Given the description of an element on the screen output the (x, y) to click on. 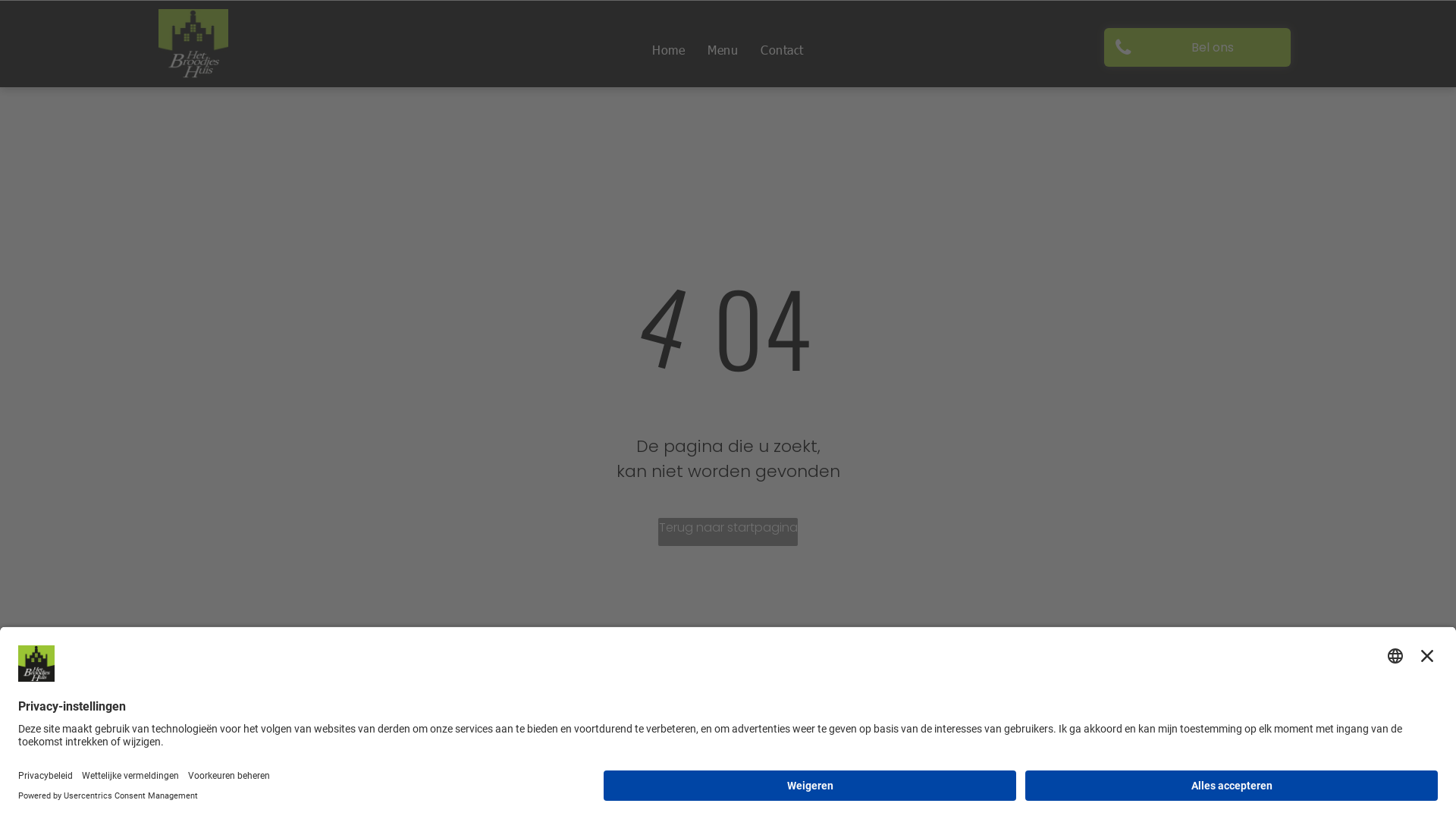
Bel ons Element type: text (1197, 47)
Home Element type: text (668, 49)
Menu Element type: text (722, 49)
Terug naar startpagina Element type: text (727, 531)
Contact Element type: text (781, 49)
